Given the description of an element on the screen output the (x, y) to click on. 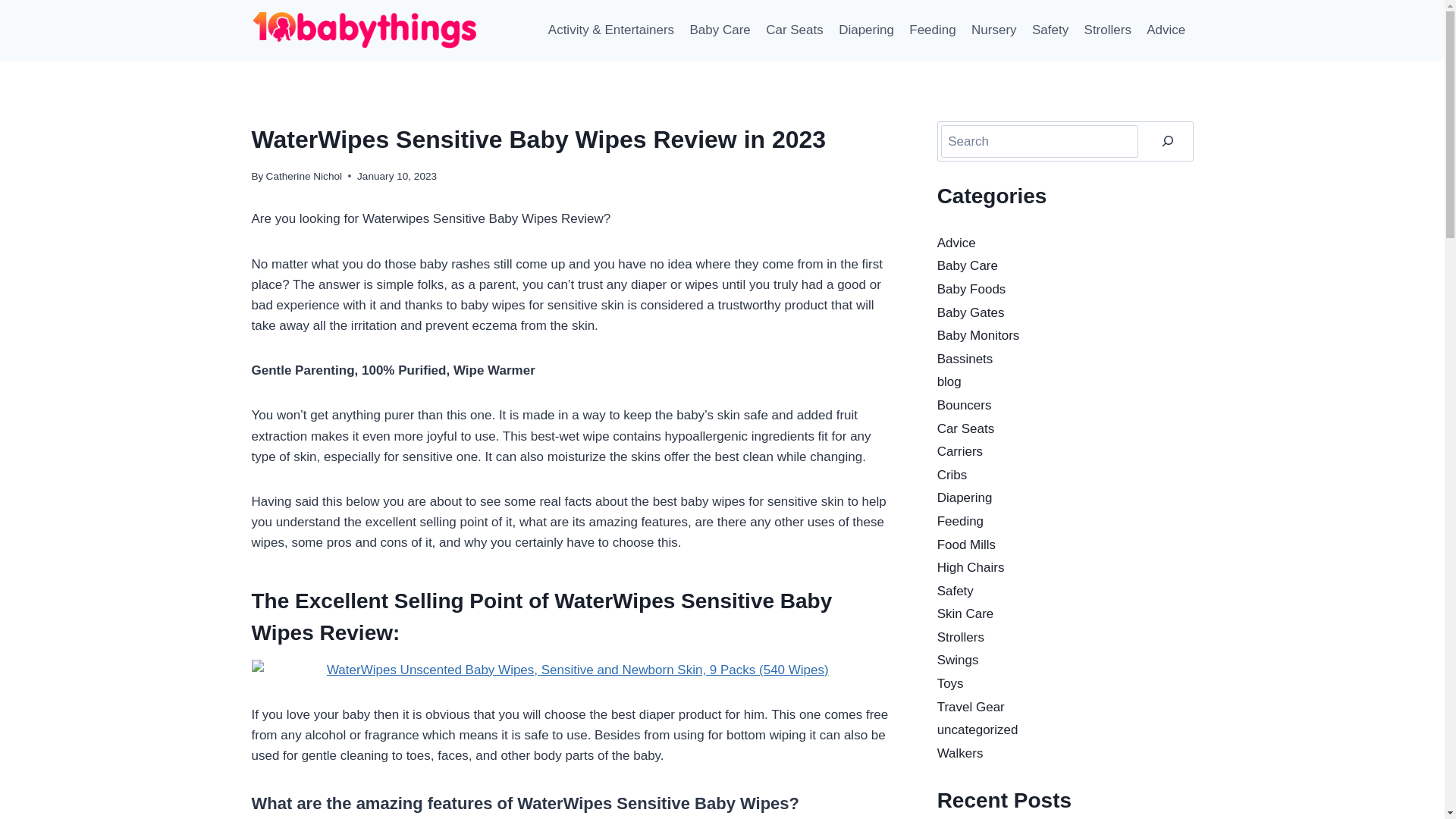
Catherine Nichol Element type: text (304, 176)
Baby Care Element type: text (719, 30)
Bouncers Element type: text (964, 405)
Baby Care Element type: text (967, 265)
Baby Foods Element type: text (971, 289)
Strollers Element type: text (1107, 30)
Safety Element type: text (1050, 30)
Feeding Element type: text (932, 30)
Advice Element type: text (1165, 30)
Bassinets Element type: text (965, 358)
High Chairs Element type: text (970, 567)
Diapering Element type: text (866, 30)
blog Element type: text (949, 381)
Car Seats Element type: text (965, 428)
Swings Element type: text (958, 659)
Cribs Element type: text (952, 474)
Carriers Element type: text (959, 451)
Strollers Element type: text (960, 637)
Food Mills Element type: text (966, 543)
Car Seats Element type: text (794, 30)
Toys Element type: text (950, 683)
Baby Monitors Element type: text (978, 335)
Skin Care Element type: text (965, 613)
Advice Element type: text (956, 242)
Baby Gates Element type: text (970, 312)
uncategorized Element type: text (977, 729)
Travel Gear Element type: text (970, 706)
Feeding Element type: text (960, 521)
Nursery Element type: text (993, 30)
Safety Element type: text (955, 590)
Diapering Element type: text (964, 497)
Activity & Entertainers Element type: text (611, 30)
Walkers Element type: text (960, 753)
